Given the description of an element on the screen output the (x, y) to click on. 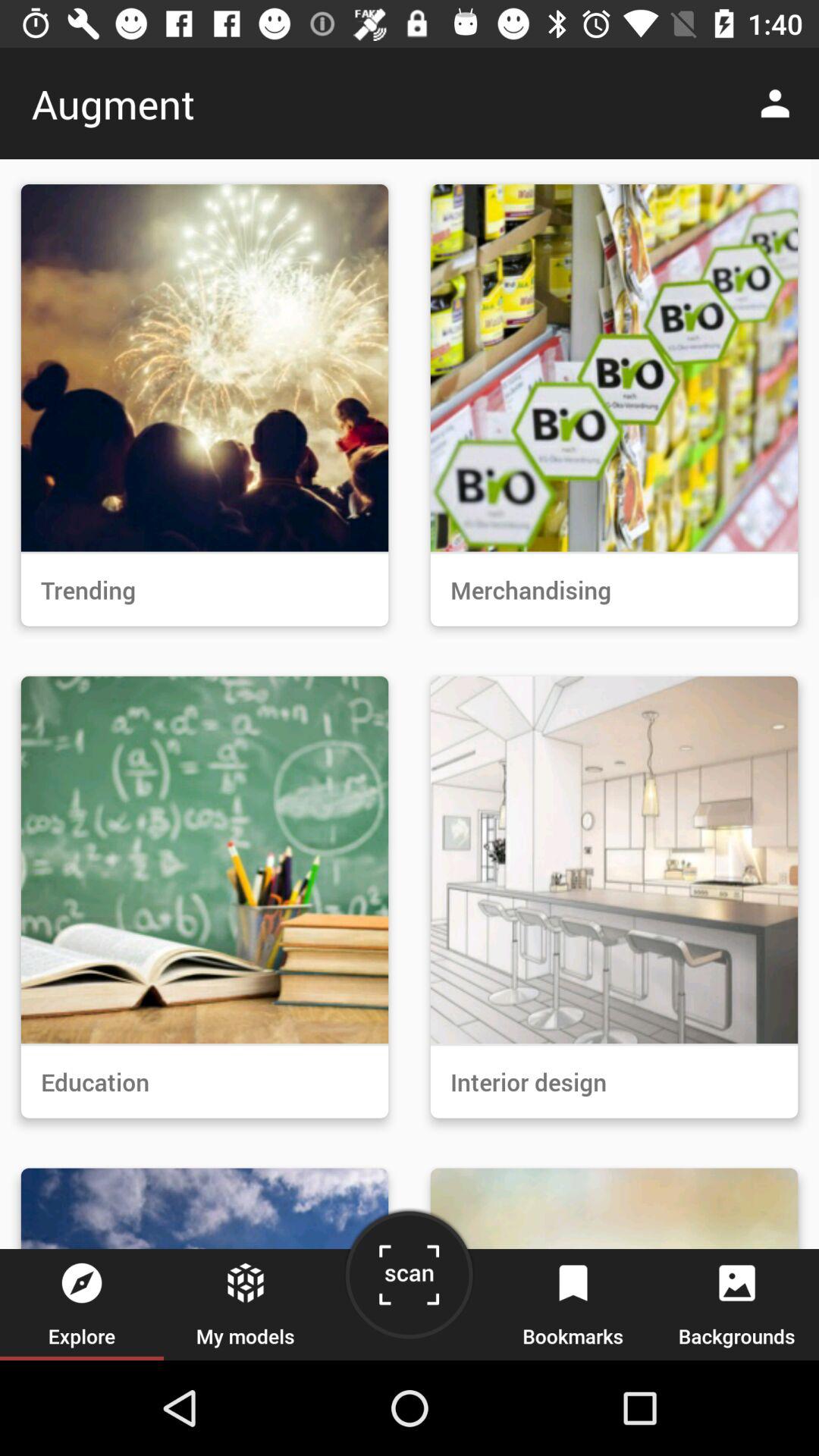
open item to the right of the augment item (779, 103)
